Given the description of an element on the screen output the (x, y) to click on. 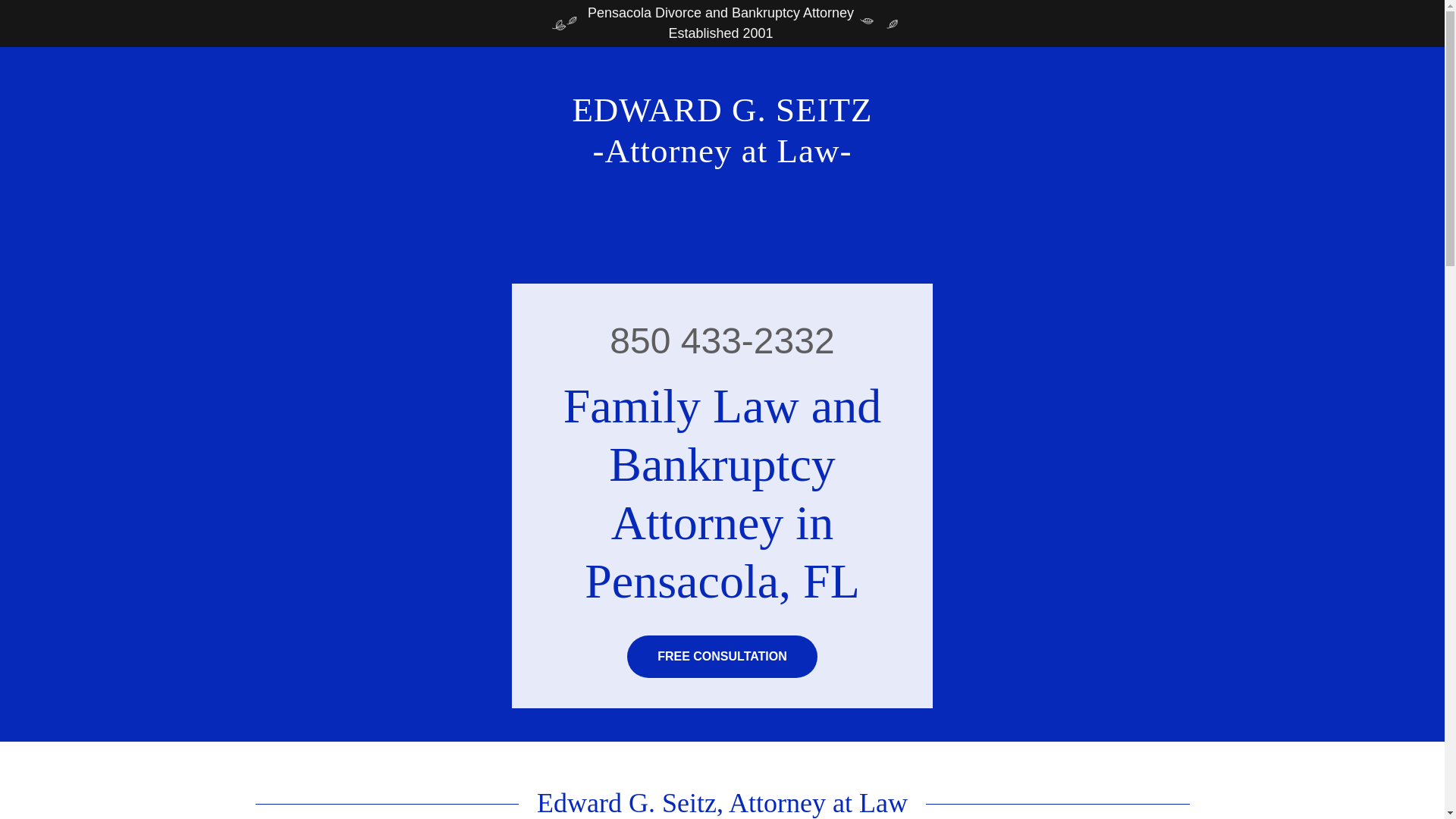
FREE CONSULTATION (721, 656)
850 433-2332 (721, 157)
